Given the description of an element on the screen output the (x, y) to click on. 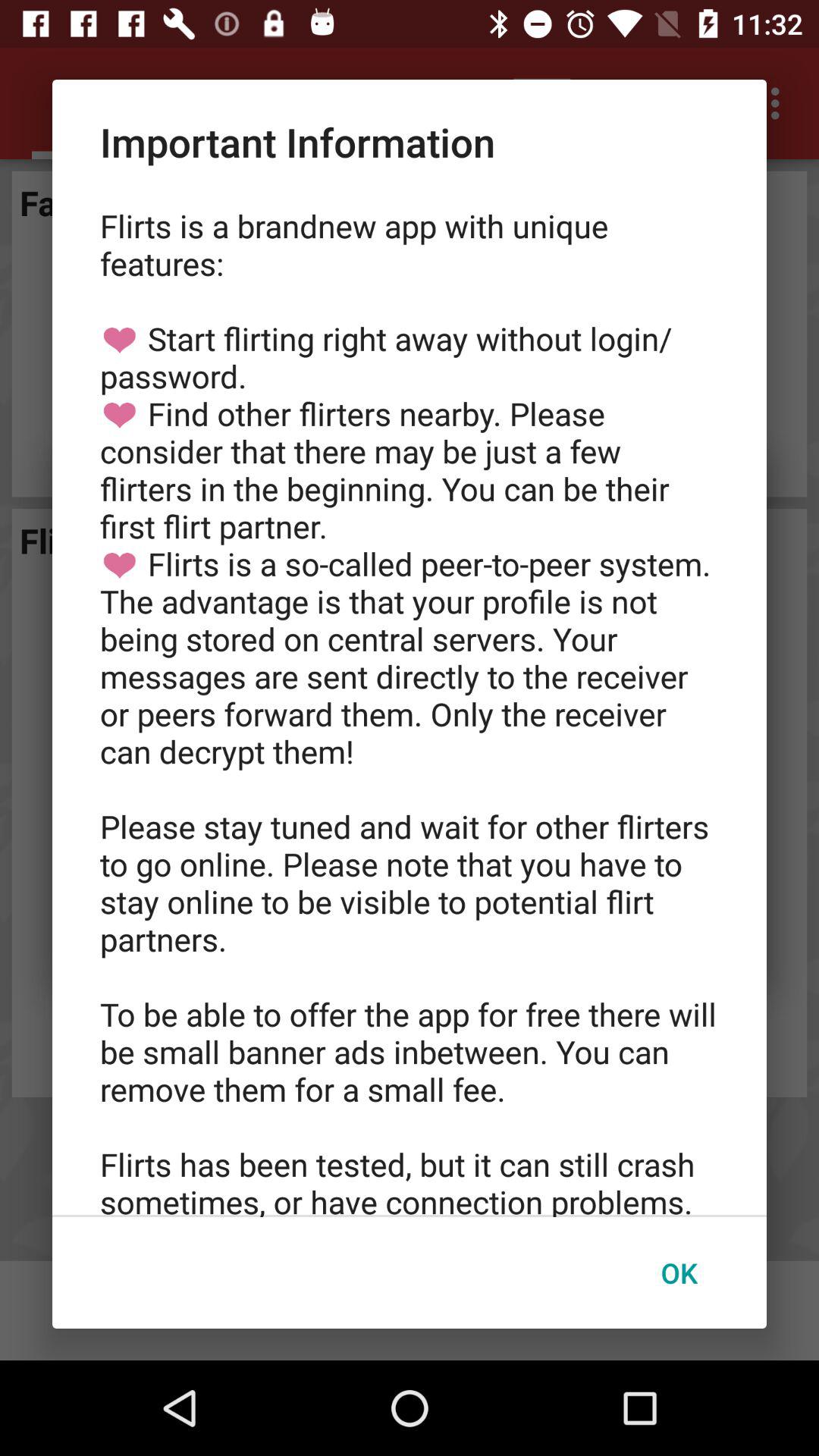
choose app below flirts is a app (678, 1272)
